Given the description of an element on the screen output the (x, y) to click on. 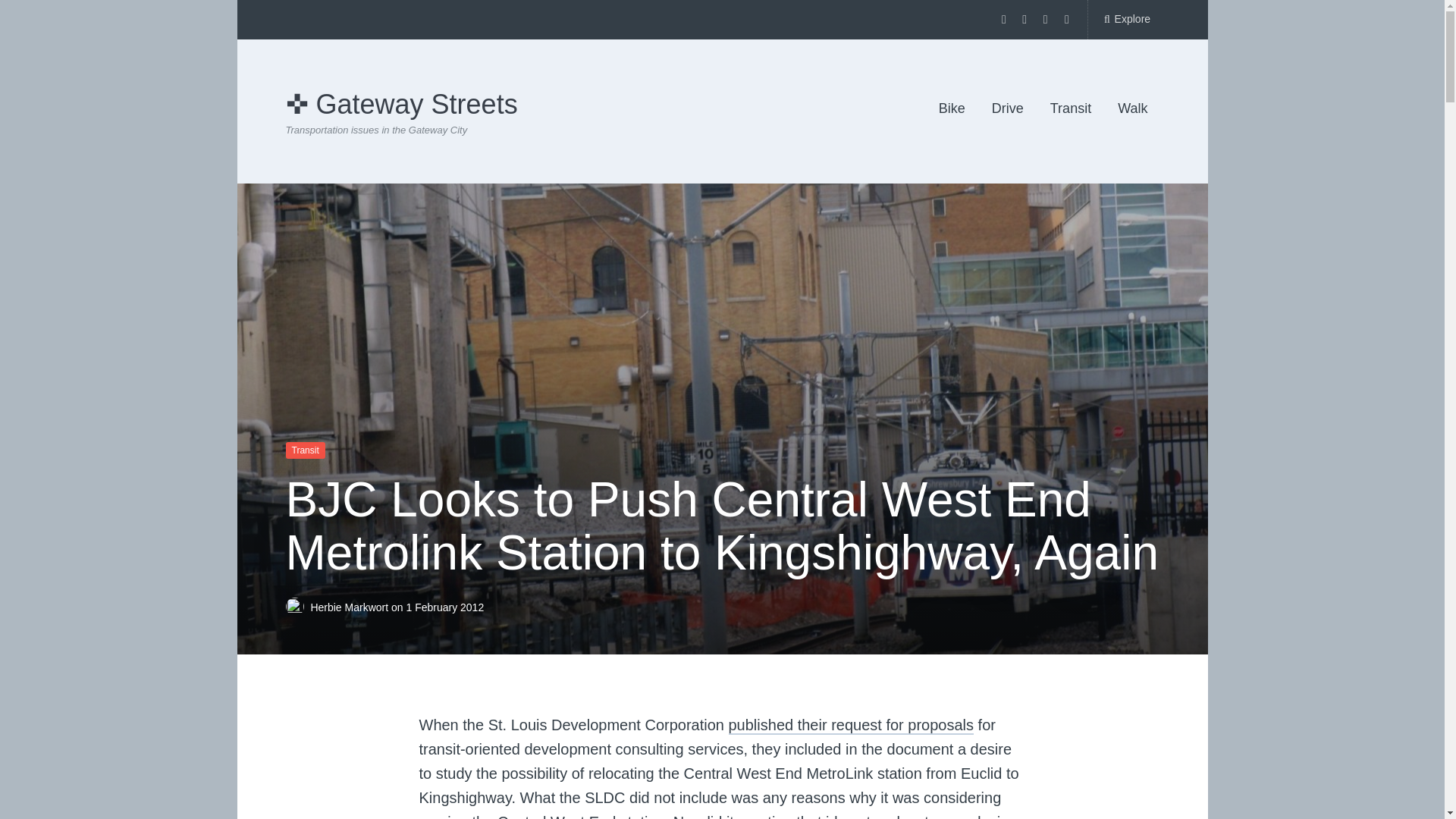
Bike (952, 109)
Herbie Markwort (350, 606)
Gateway Streets (400, 103)
Transit (304, 450)
Posts by   (297, 606)
